Given the description of an element on the screen output the (x, y) to click on. 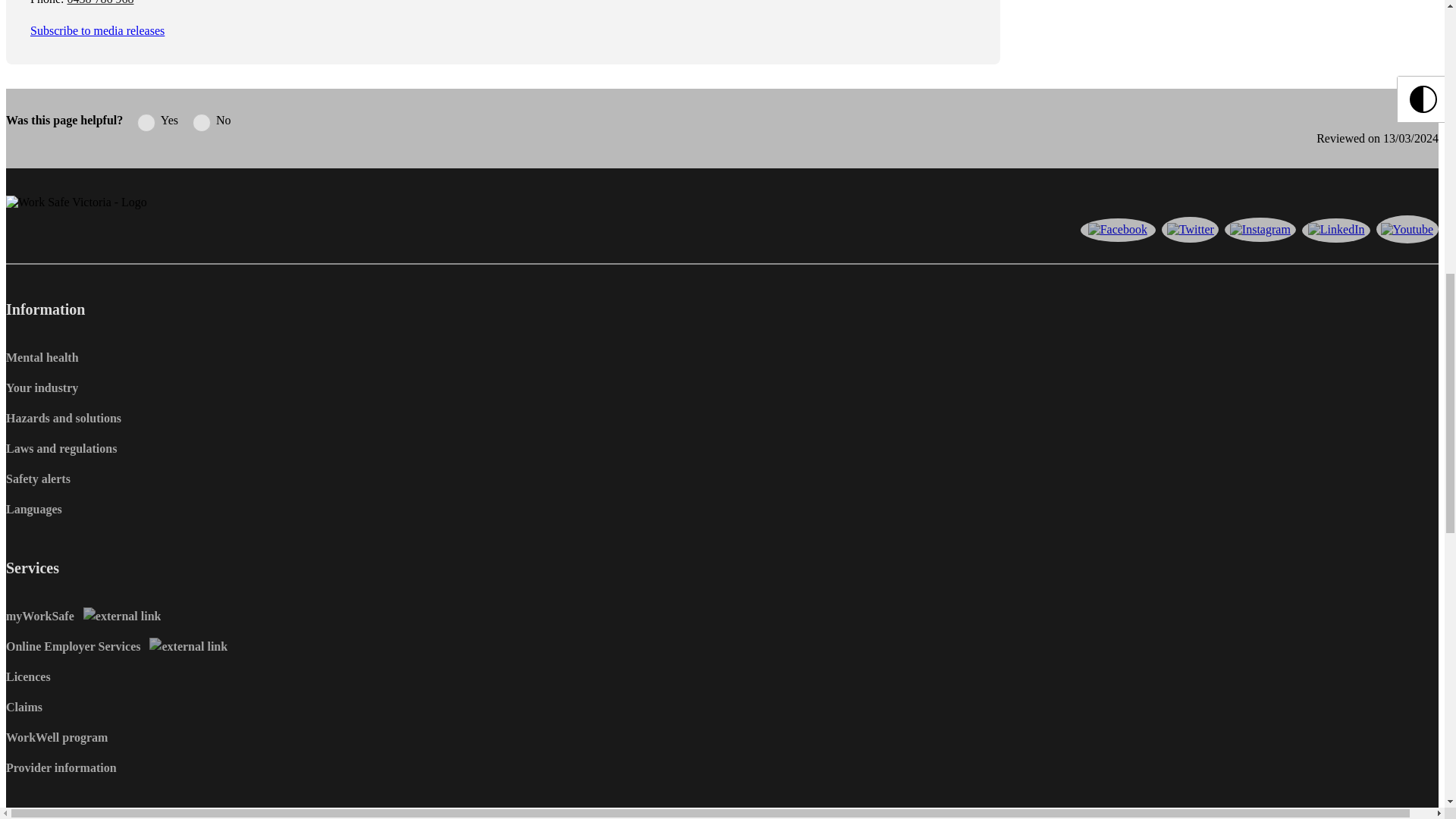
Licences (27, 676)
Online Employer Services (116, 645)
Hazards and solutions (62, 418)
WorkWell program (56, 737)
myWorkSafe (82, 615)
Your industry (41, 387)
Safety alerts (37, 478)
Claims (23, 707)
0438 786 968 (99, 2)
